Given the description of an element on the screen output the (x, y) to click on. 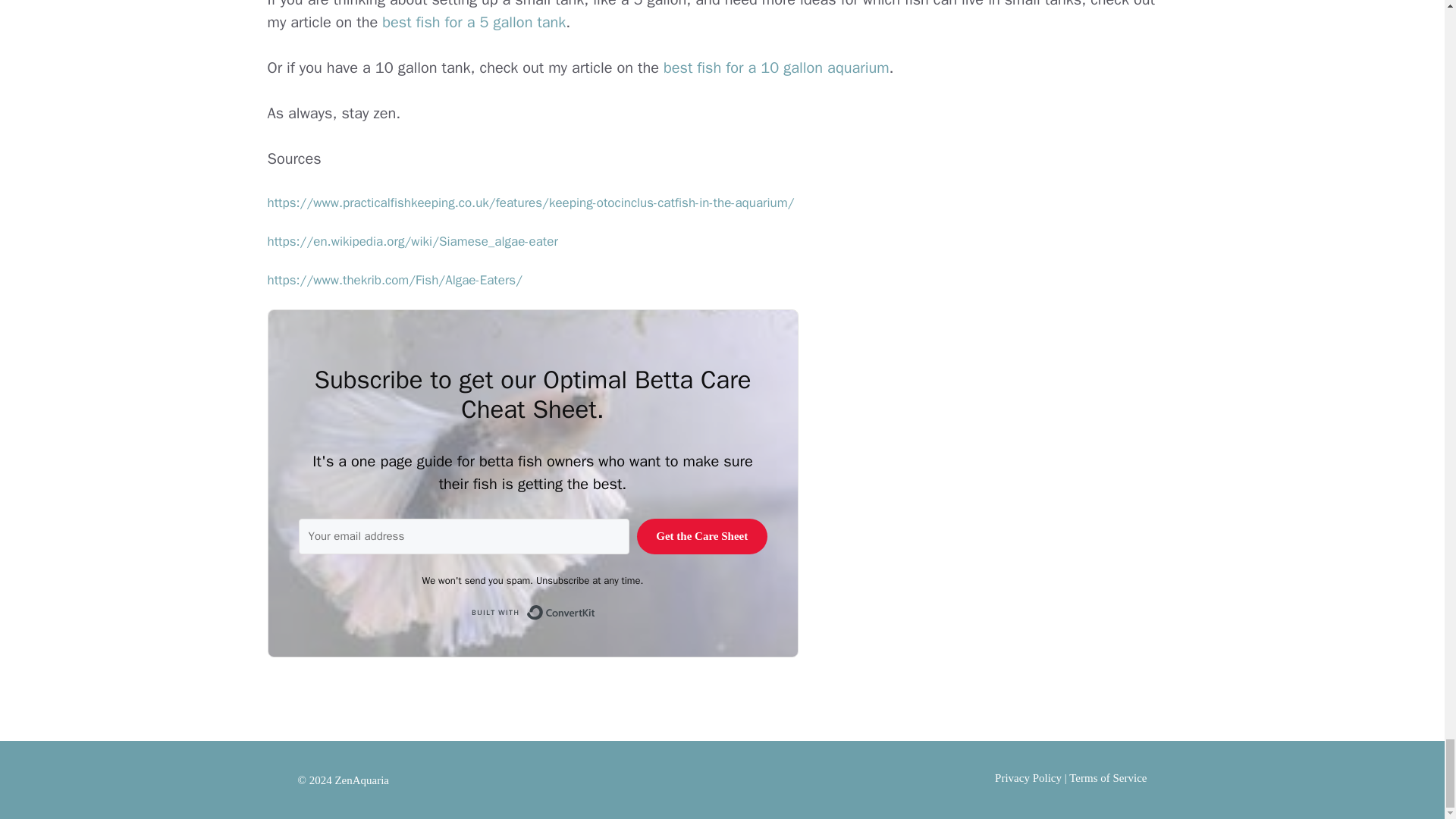
Get the Care Sheet (702, 536)
best fish for a 5 gallon tank (473, 22)
best fish for a 10 gallon aquarium (776, 67)
